Given the description of an element on the screen output the (x, y) to click on. 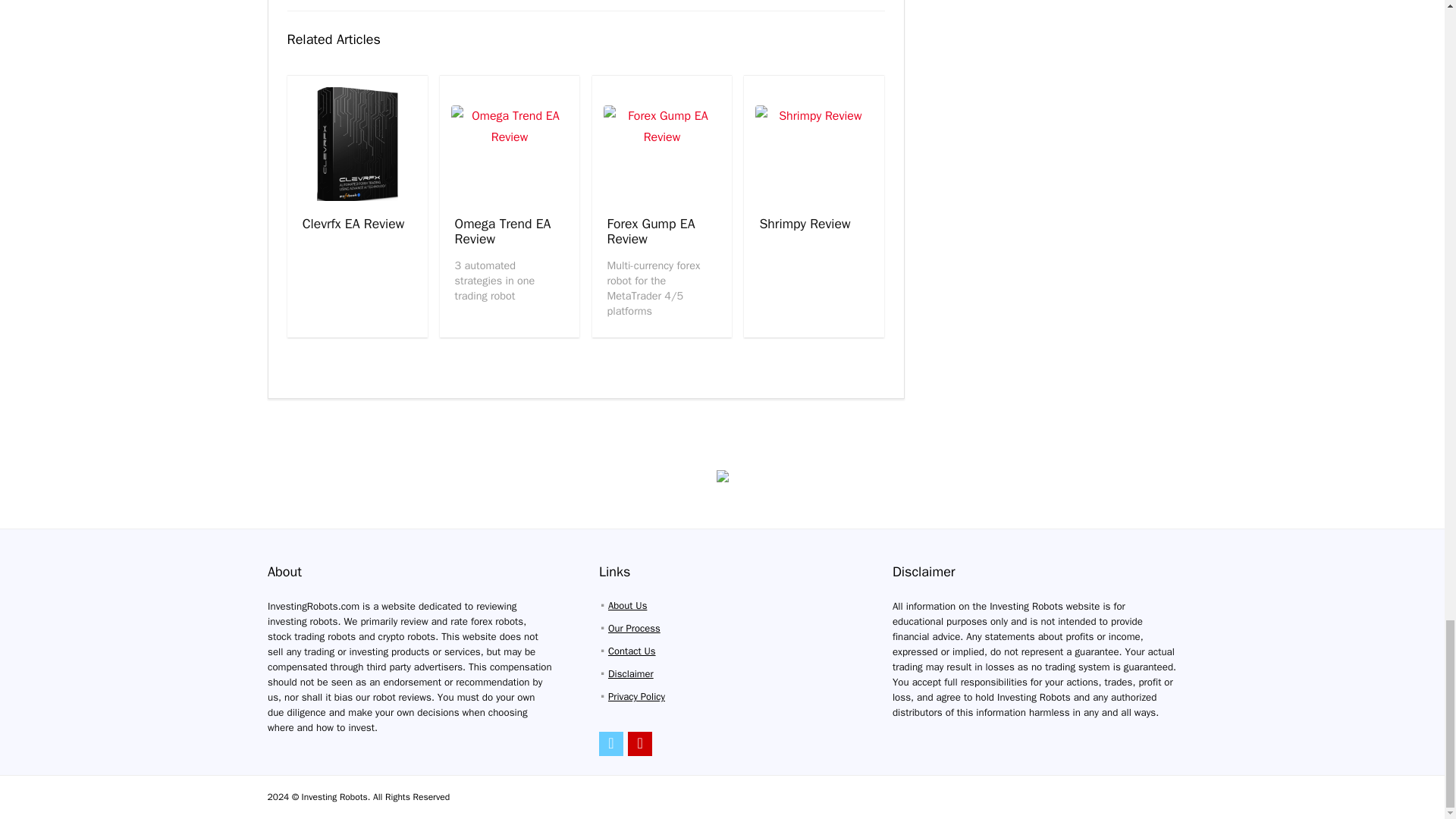
Omega Trend EA Review (502, 231)
Clevrfx EA Review (353, 223)
Forex Gump EA Review (650, 231)
